Given the description of an element on the screen output the (x, y) to click on. 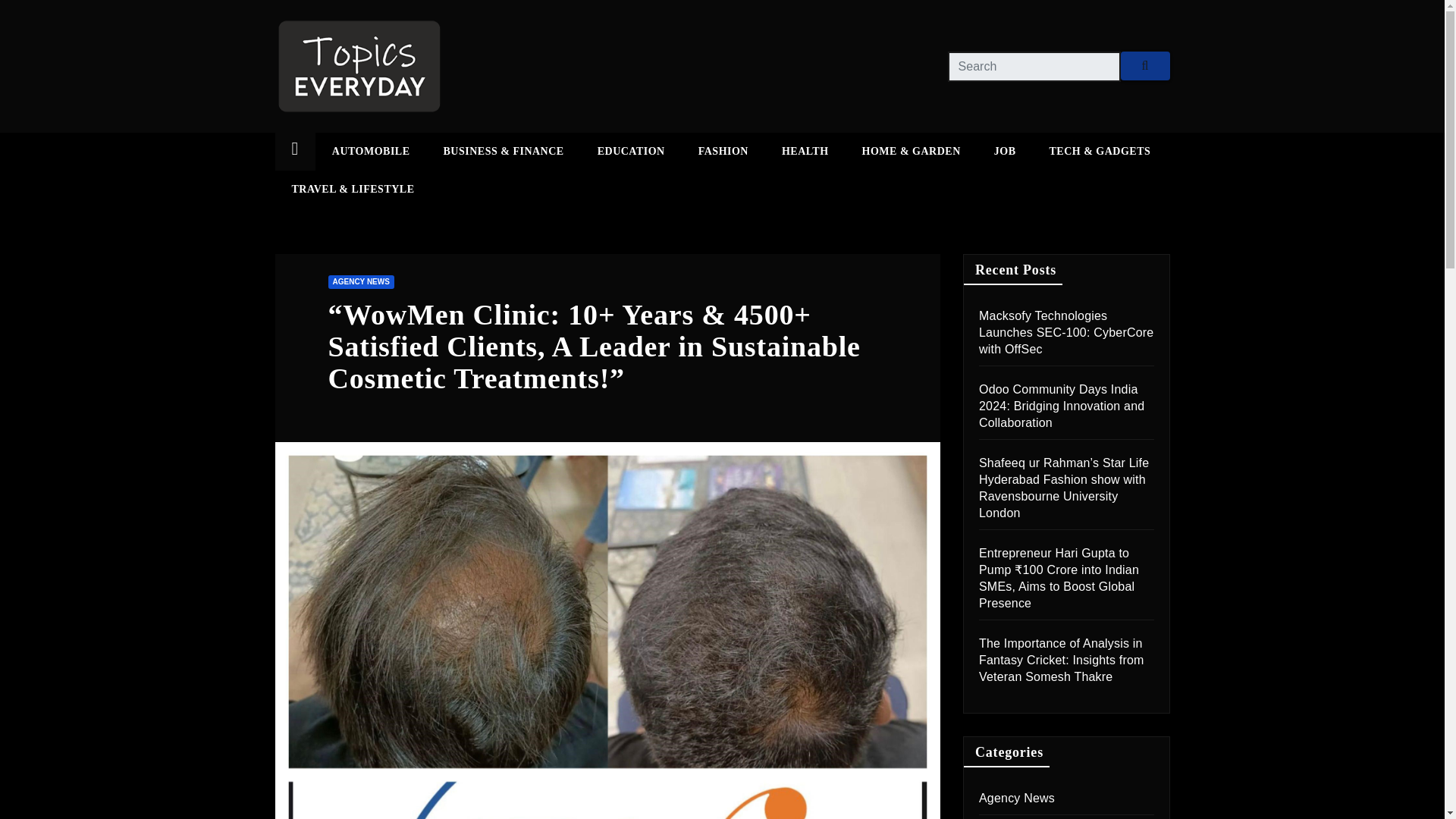
Fashion (723, 151)
HEALTH (805, 151)
Job (1004, 151)
FASHION (723, 151)
EDUCATION (630, 151)
AUTOMOBILE (370, 151)
Automobile (370, 151)
Agency News (1016, 797)
AGENCY NEWS (360, 282)
JOB (1004, 151)
